Given the description of an element on the screen output the (x, y) to click on. 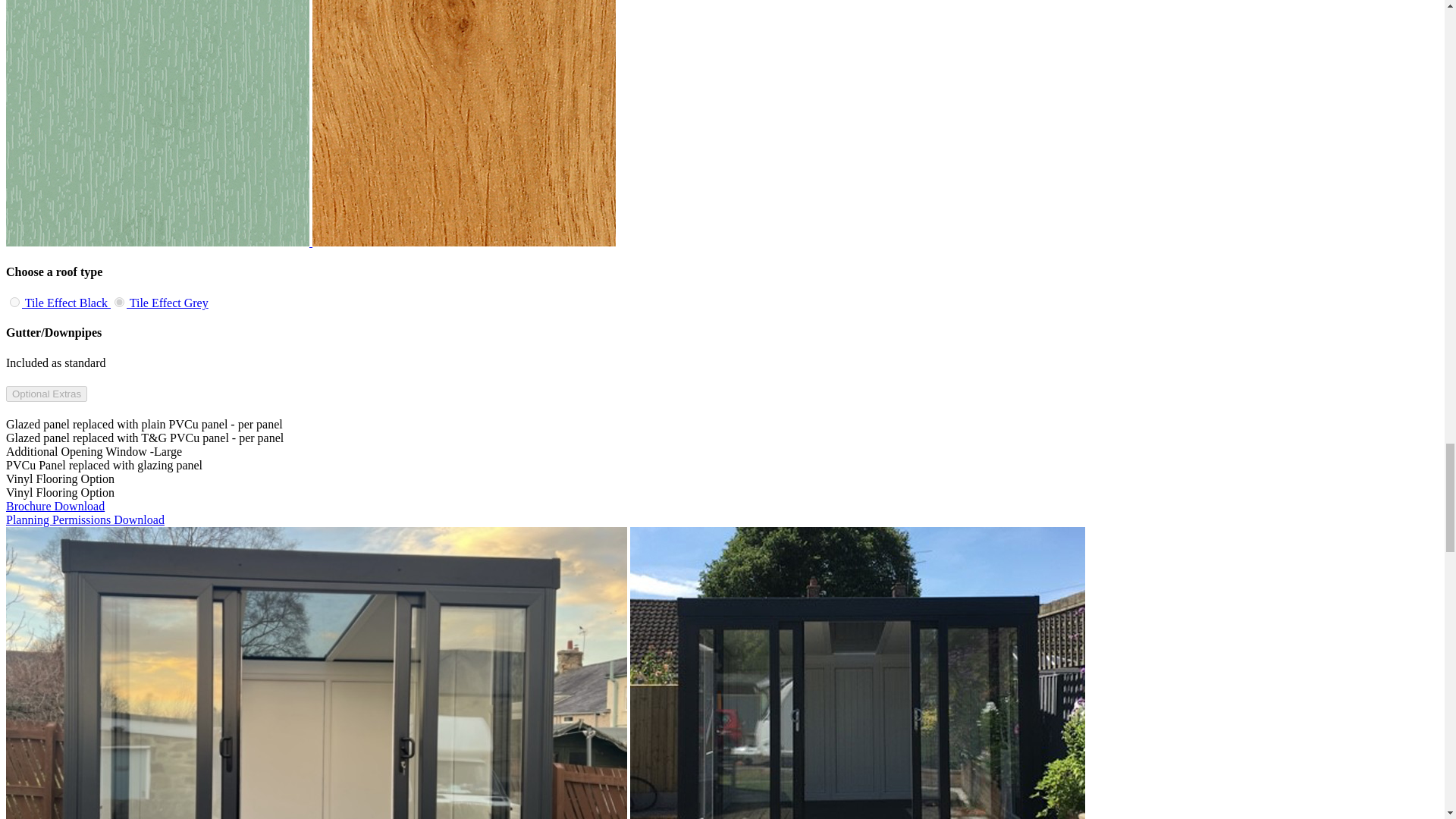
Irish Oak (464, 241)
Chartwell Green (159, 241)
on (119, 302)
on (15, 302)
